Given the description of an element on the screen output the (x, y) to click on. 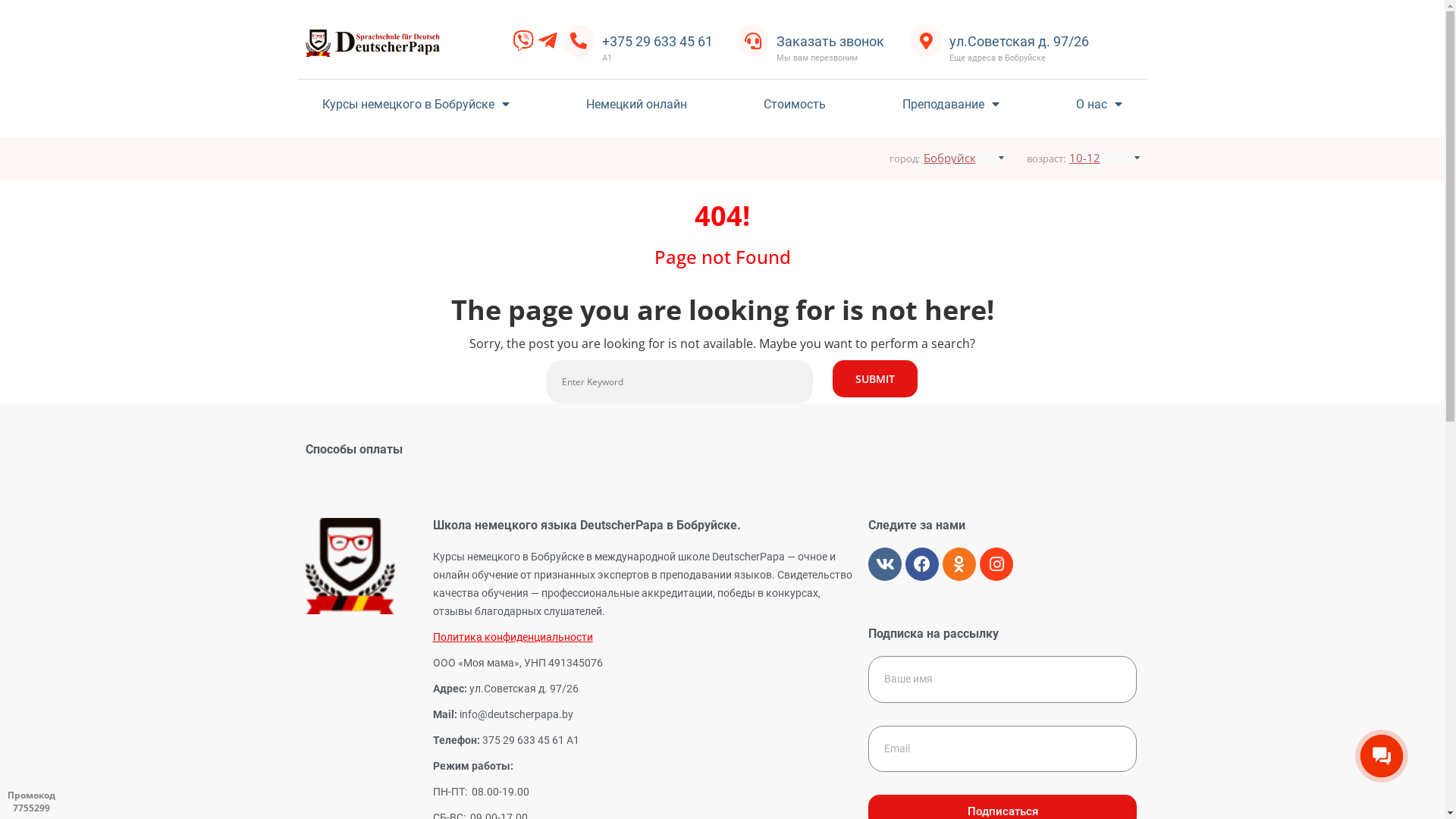
+375 29 633 45 61 Element type: text (657, 41)
submit Element type: text (874, 378)
